Given the description of an element on the screen output the (x, y) to click on. 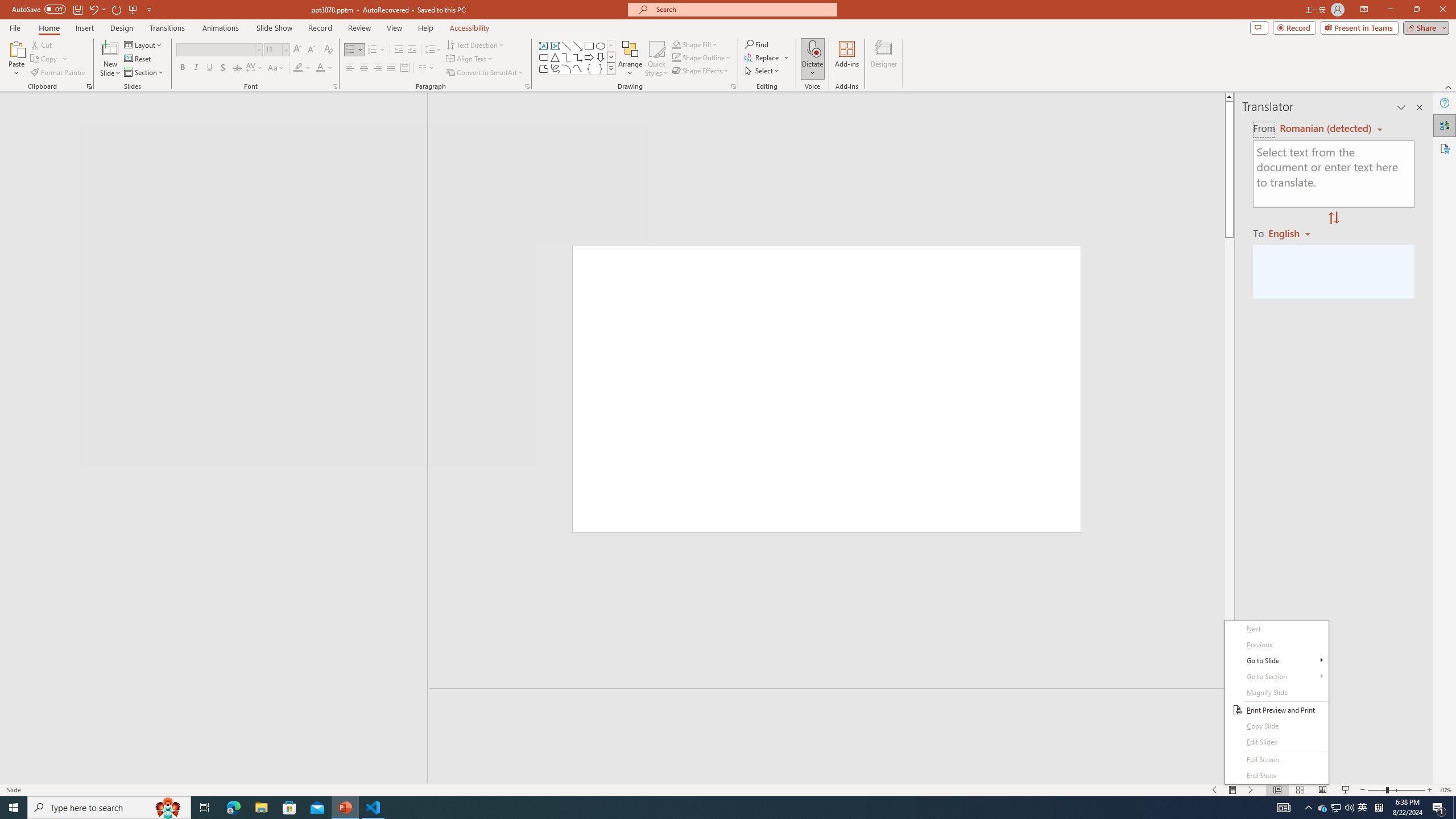
Character Spacing (254, 67)
Text Direction (476, 44)
Oval (600, 45)
Columns (426, 67)
Shadow (223, 67)
Italic (195, 67)
Slide Show Previous On (1214, 790)
Align Left (349, 67)
